Given the description of an element on the screen output the (x, y) to click on. 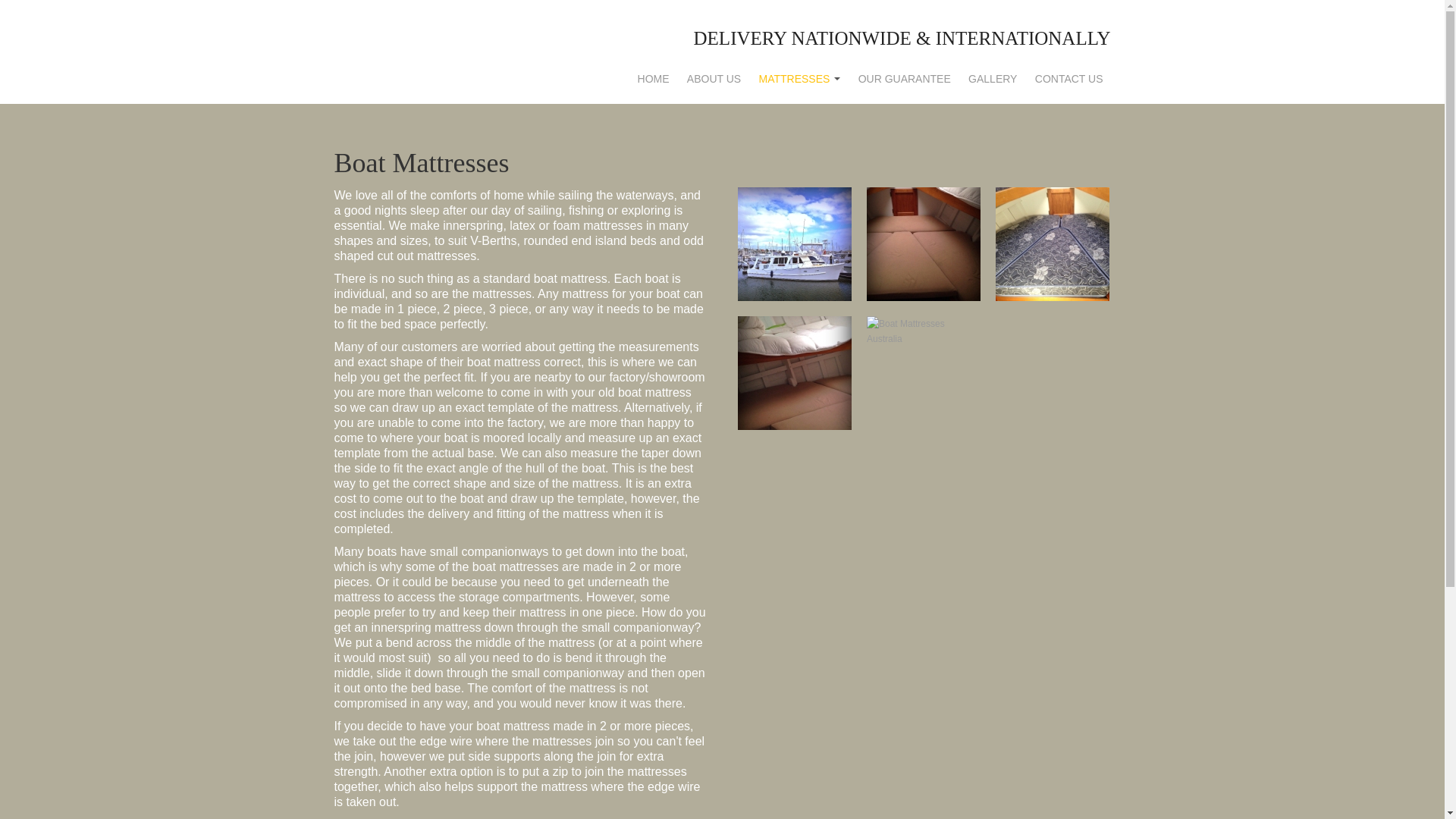
Boat Mattresses Element type: hover (923, 243)
HOME Element type: text (653, 51)
ABOUT US Element type: text (713, 51)
OUR GUARANTEE Element type: text (904, 51)
MATTRESSES Element type: text (799, 51)
Boat Mattresses Australia Element type: hover (923, 330)
Boat Mattresses Element type: hover (794, 243)
GALLERY Element type: text (992, 51)
CONTACT US Element type: text (1068, 51)
Boat Mattresses Element type: hover (1052, 243)
Boat Mattresses Australia Element type: hover (794, 372)
